Given the description of an element on the screen output the (x, y) to click on. 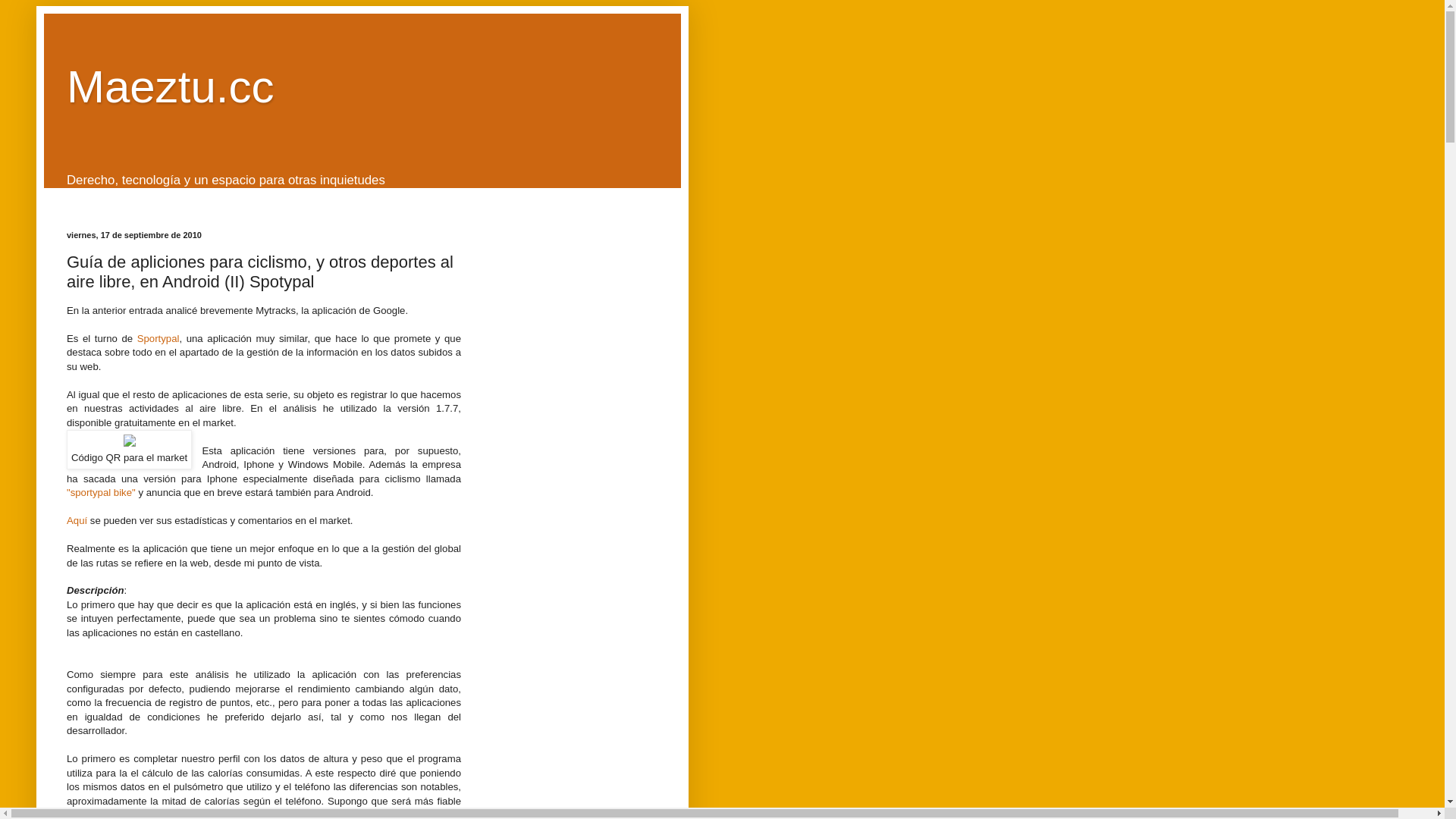
Sportypal Element type: text (158, 338)
Maeztu.cc Element type: text (169, 86)
"sportypal bike" Element type: text (100, 492)
